Given the description of an element on the screen output the (x, y) to click on. 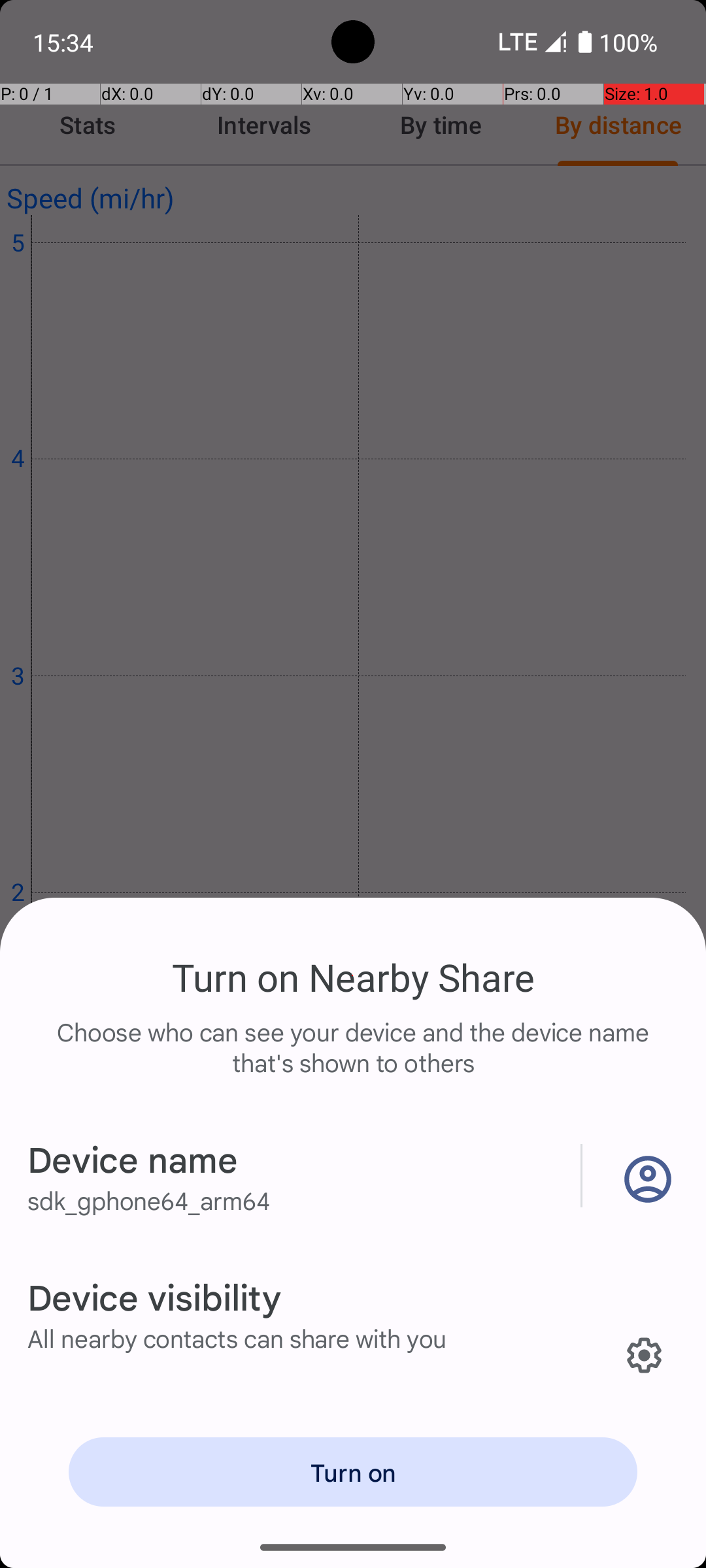
Turn on Nearby Share Element type: android.widget.TextView (353, 976)
Choose who can see your device and the device name that's shown to others Element type: android.widget.TextView (353, 1060)
No account found Element type: android.widget.FrameLayout (644, 1175)
Turn on Element type: android.widget.Button (352, 1471)
Device visibility Element type: android.widget.TextView (154, 1296)
All nearby contacts can share with you Element type: android.widget.TextView (237, 1338)
